Given the description of an element on the screen output the (x, y) to click on. 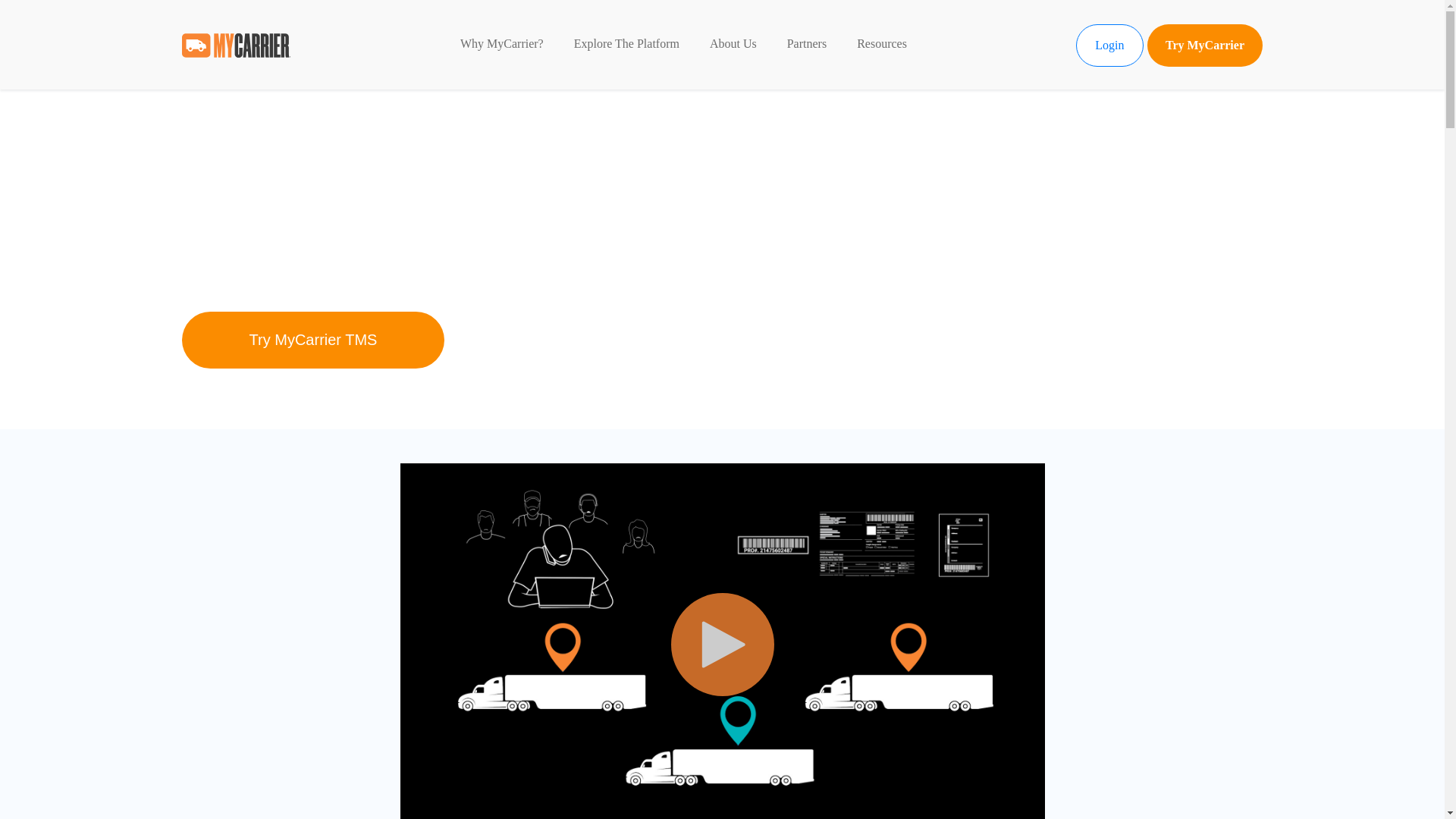
Try MyCarrier (1204, 45)
Partners (807, 44)
Explore The Platform (626, 44)
Resources (882, 44)
Embedded CTA (313, 340)
About Us (733, 44)
Login (1108, 45)
Why MyCarrier? (501, 44)
